Given the description of an element on the screen output the (x, y) to click on. 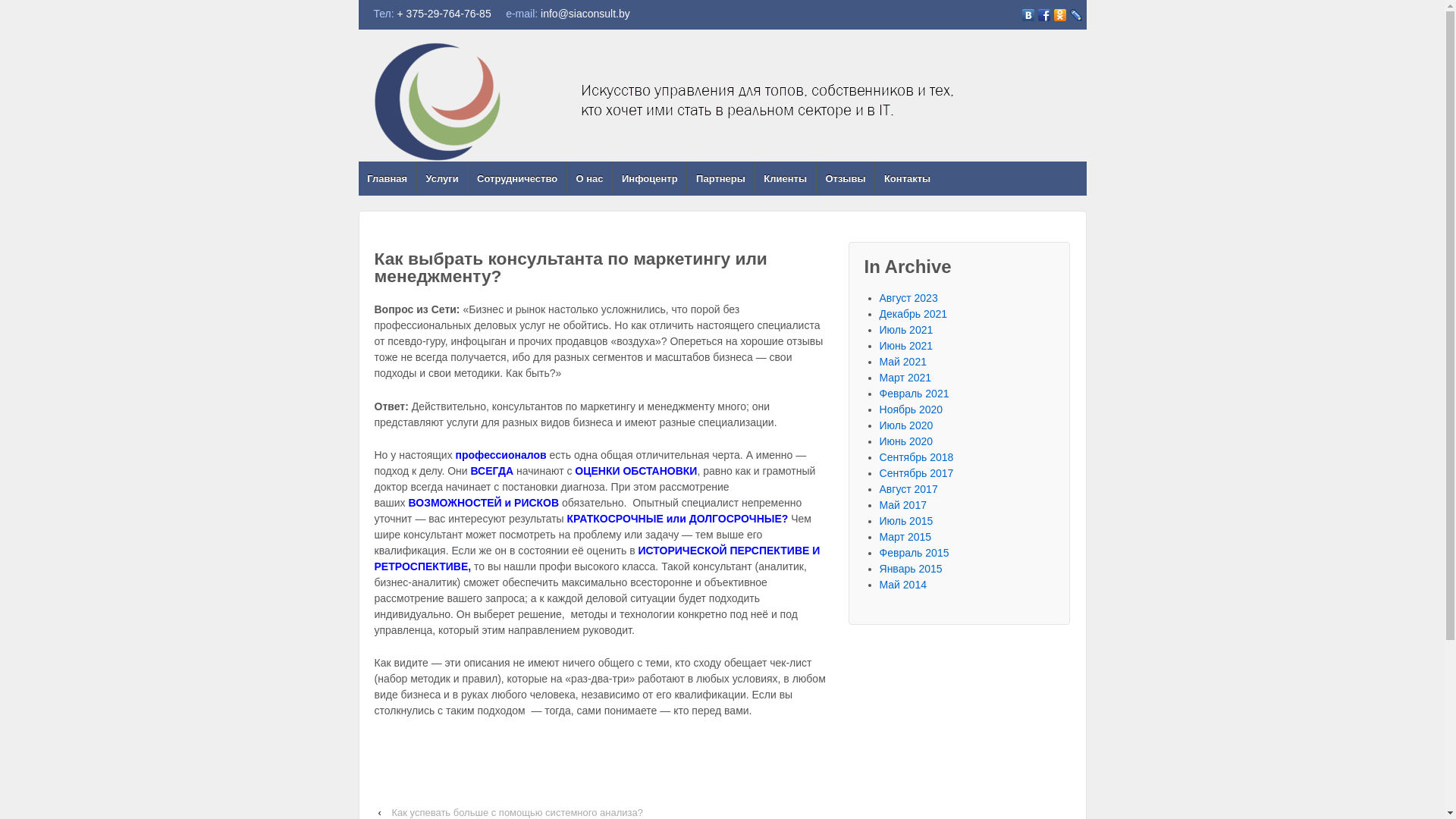
LiveJournal Element type: hover (1075, 15)
Facebook Element type: hover (1043, 15)
